Given the description of an element on the screen output the (x, y) to click on. 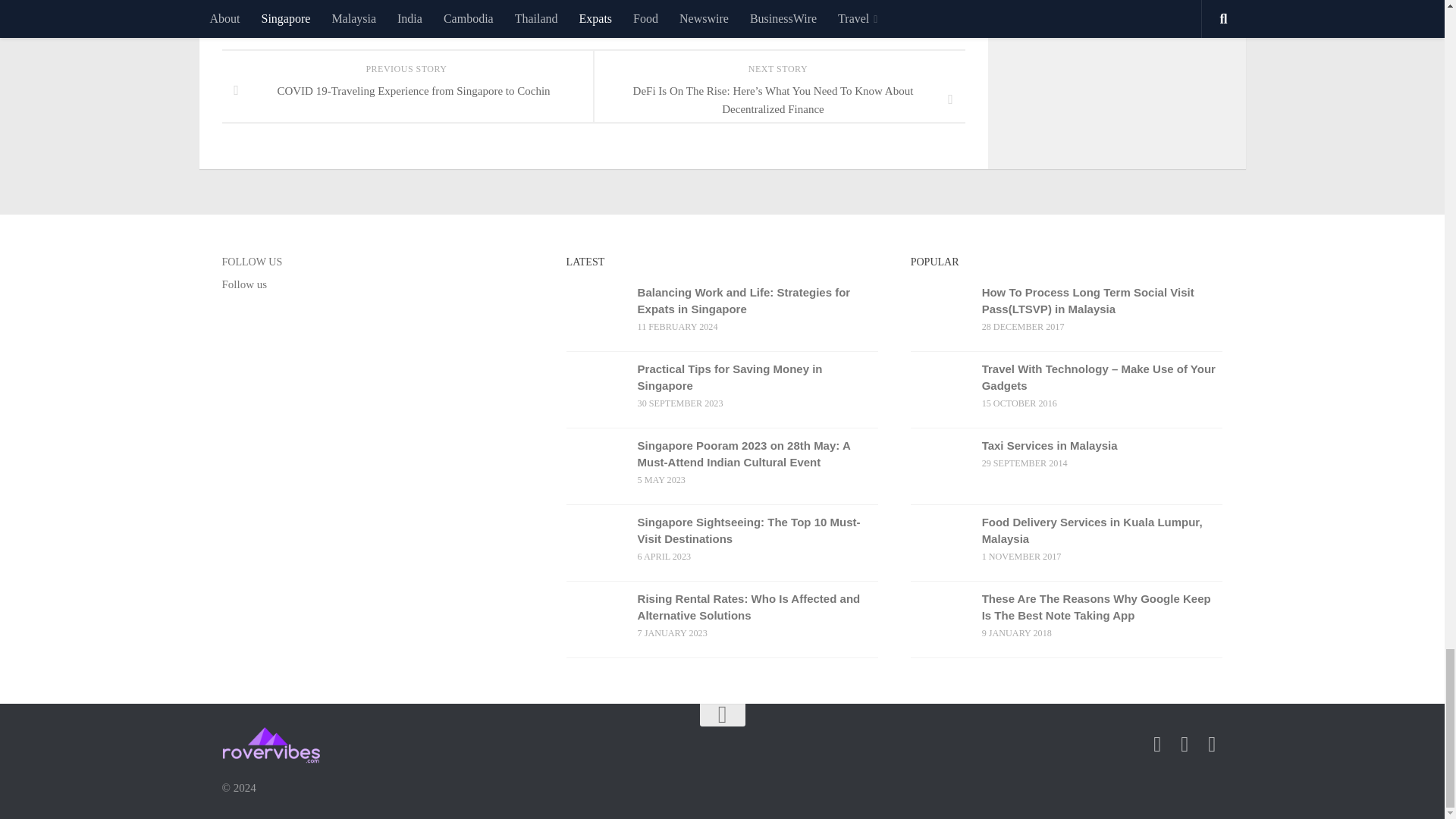
Follow us on Facebook (1157, 744)
Follow us on Youtube (1184, 744)
Follow us on Instagram (1212, 744)
